Given the description of an element on the screen output the (x, y) to click on. 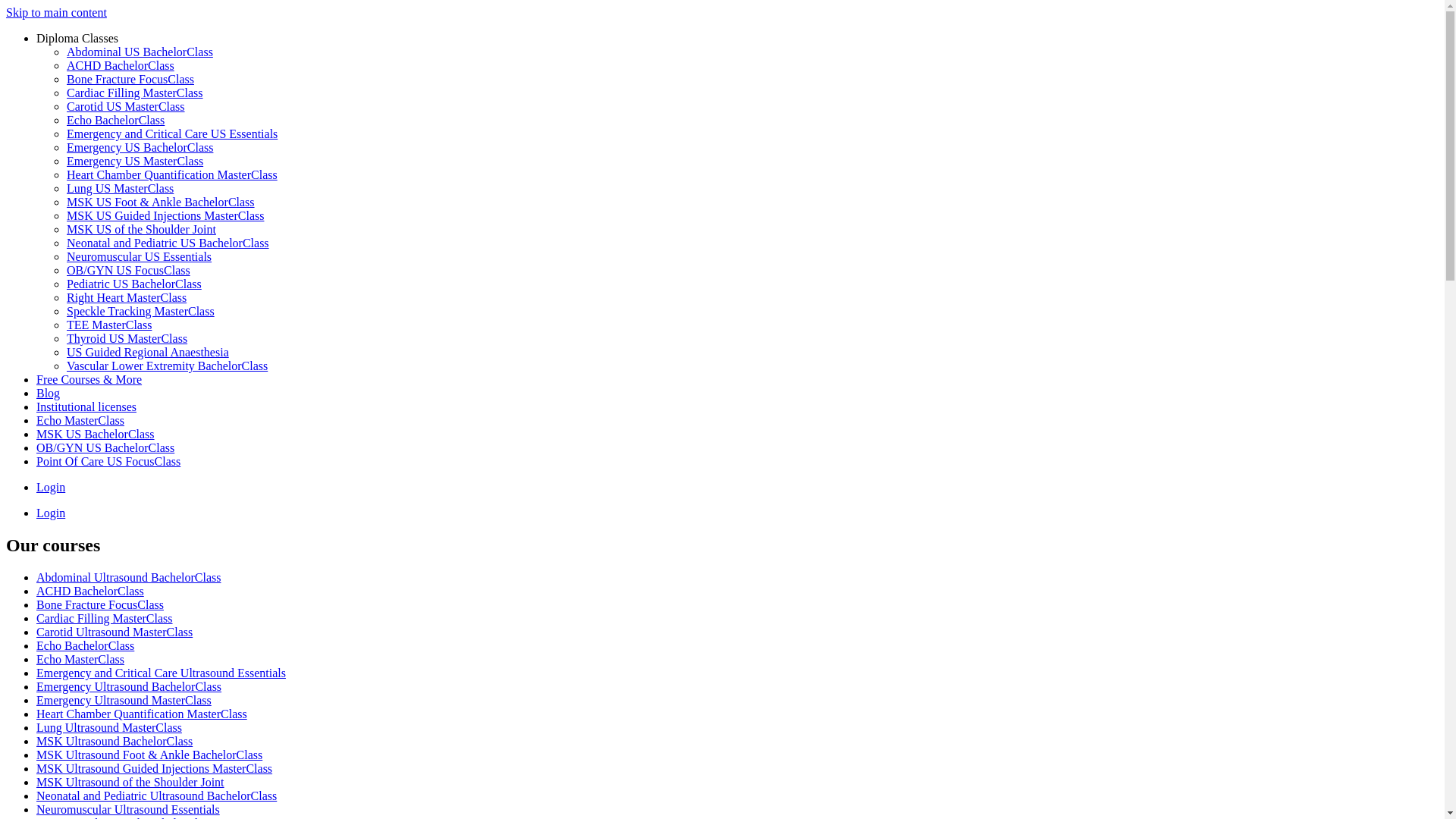
Emergency and Critical Care US Essentials Element type: text (171, 133)
Lung Ultrasound MasterClass Element type: text (109, 727)
MSK US Foot & Ankle BachelorClass Element type: text (160, 201)
Right Heart MasterClass Element type: text (126, 297)
MSK Ultrasound BachelorClass Element type: text (114, 740)
Thyroid US MasterClass Element type: text (126, 338)
Pediatric US BachelorClass Element type: text (133, 283)
Speckle Tracking MasterClass Element type: text (140, 310)
Neuromuscular US Essentials Element type: text (138, 256)
Login Element type: text (50, 486)
OB/GYN US BachelorClass Element type: text (105, 447)
Cardiac Filling MasterClass Element type: text (134, 92)
OB/GYN US FocusClass Element type: text (128, 269)
MSK US BachelorClass Element type: text (95, 433)
Vascular Lower Extremity BachelorClass Element type: text (166, 365)
Abdominal US BachelorClass Element type: text (139, 51)
MSK Ultrasound Foot & Ankle BachelorClass Element type: text (149, 754)
Echo MasterClass Element type: text (80, 420)
Point Of Care US FocusClass Element type: text (108, 461)
TEE MasterClass Element type: text (108, 324)
Lung US MasterClass Element type: text (119, 188)
Institutional licenses Element type: text (86, 406)
Echo BachelorClass Element type: text (85, 645)
Emergency US BachelorClass Element type: text (139, 147)
Neonatal and Pediatric Ultrasound BachelorClass Element type: text (156, 795)
Neuromuscular Ultrasound Essentials Element type: text (127, 809)
Carotid US MasterClass Element type: text (125, 106)
Login Element type: text (50, 512)
Echo MasterClass Element type: text (80, 658)
Emergency Ultrasound MasterClass Element type: text (123, 699)
Blog Element type: text (47, 392)
Carotid Ultrasound MasterClass Element type: text (114, 631)
Emergency Ultrasound BachelorClass Element type: text (128, 686)
MSK US of the Shoulder Joint Element type: text (141, 228)
US Guided Regional Anaesthesia Element type: text (147, 351)
MSK Ultrasound Guided Injections MasterClass Element type: text (154, 768)
MSK US Guided Injections MasterClass Element type: text (164, 215)
Heart Chamber Quantification MasterClass Element type: text (141, 713)
ACHD BachelorClass Element type: text (90, 590)
Emergency US MasterClass Element type: text (134, 160)
Abdominal Ultrasound BachelorClass Element type: text (128, 577)
Bone Fracture FocusClass Element type: text (130, 78)
Skip to main content Element type: text (56, 12)
Free Courses & More Element type: text (88, 379)
Echo BachelorClass Element type: text (115, 119)
Cardiac Filling MasterClass Element type: text (104, 617)
Neonatal and Pediatric US BachelorClass Element type: text (167, 242)
Heart Chamber Quantification MasterClass Element type: text (171, 174)
ACHD BachelorClass Element type: text (120, 65)
Bone Fracture FocusClass Element type: text (99, 604)
MSK Ultrasound of the Shoulder Joint Element type: text (130, 781)
Emergency and Critical Care Ultrasound Essentials Element type: text (160, 672)
